Given the description of an element on the screen output the (x, y) to click on. 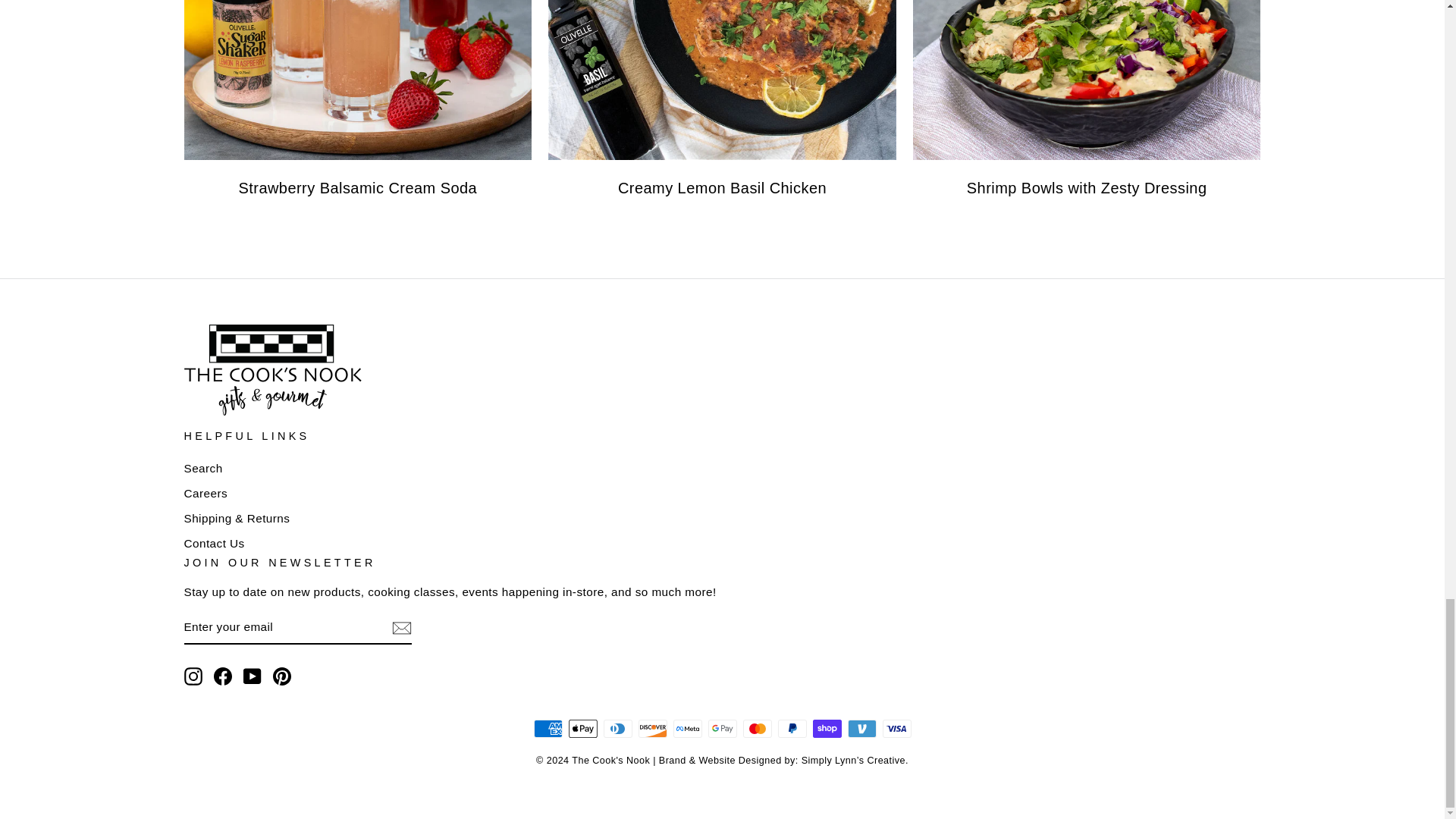
Diners Club (617, 728)
The Cook's Nook on YouTube (251, 676)
The Cook's Nook on Instagram (192, 676)
icon-email (400, 628)
American Express (548, 728)
instagram (192, 676)
Apple Pay (582, 728)
The Cook's Nook on Facebook (222, 676)
